Given the description of an element on the screen output the (x, y) to click on. 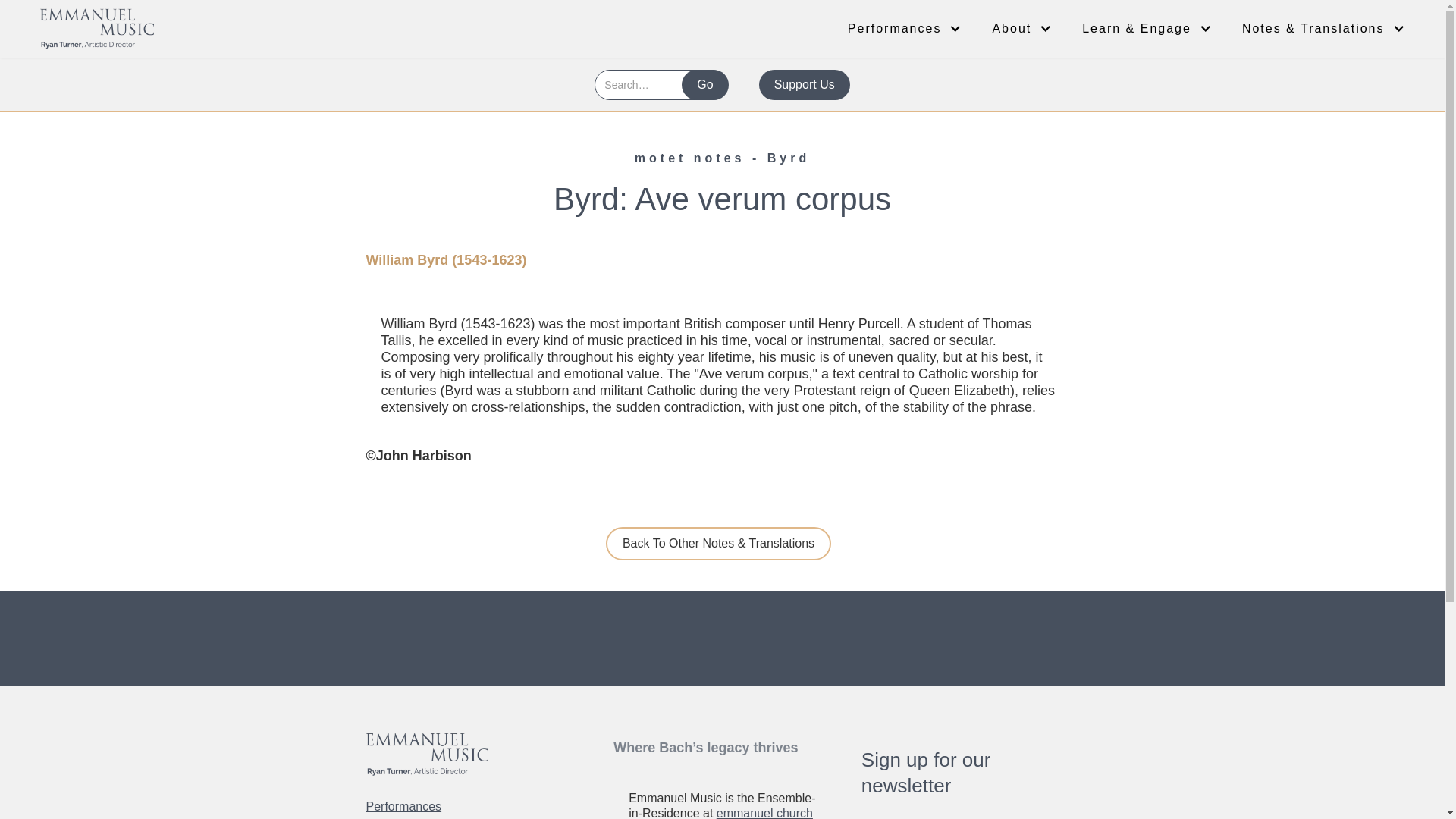
Go (704, 84)
Go (704, 84)
Performances (409, 806)
Go (704, 84)
Support Us (804, 84)
emmanuel church (764, 812)
